Given the description of an element on the screen output the (x, y) to click on. 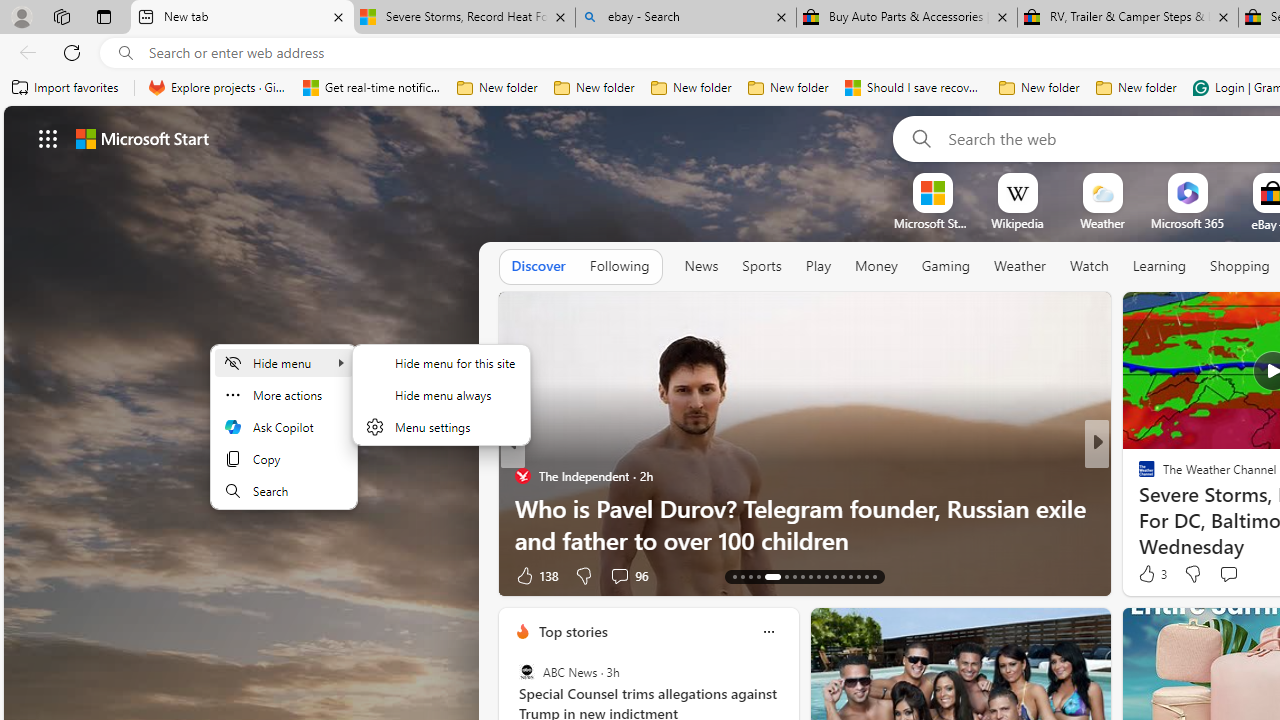
AutomationID: tab-25 (842, 576)
7 Like (1145, 574)
NBC News (1138, 475)
Simply More Time (1138, 507)
Should I save recovered Word documents? - Microsoft Support (913, 88)
Import favorites (65, 88)
Buy Auto Parts & Accessories | eBay (907, 17)
353 Like (1151, 574)
Search icon (125, 53)
AutomationID: tab-15 (750, 576)
Top stories (572, 631)
